Given the description of an element on the screen output the (x, y) to click on. 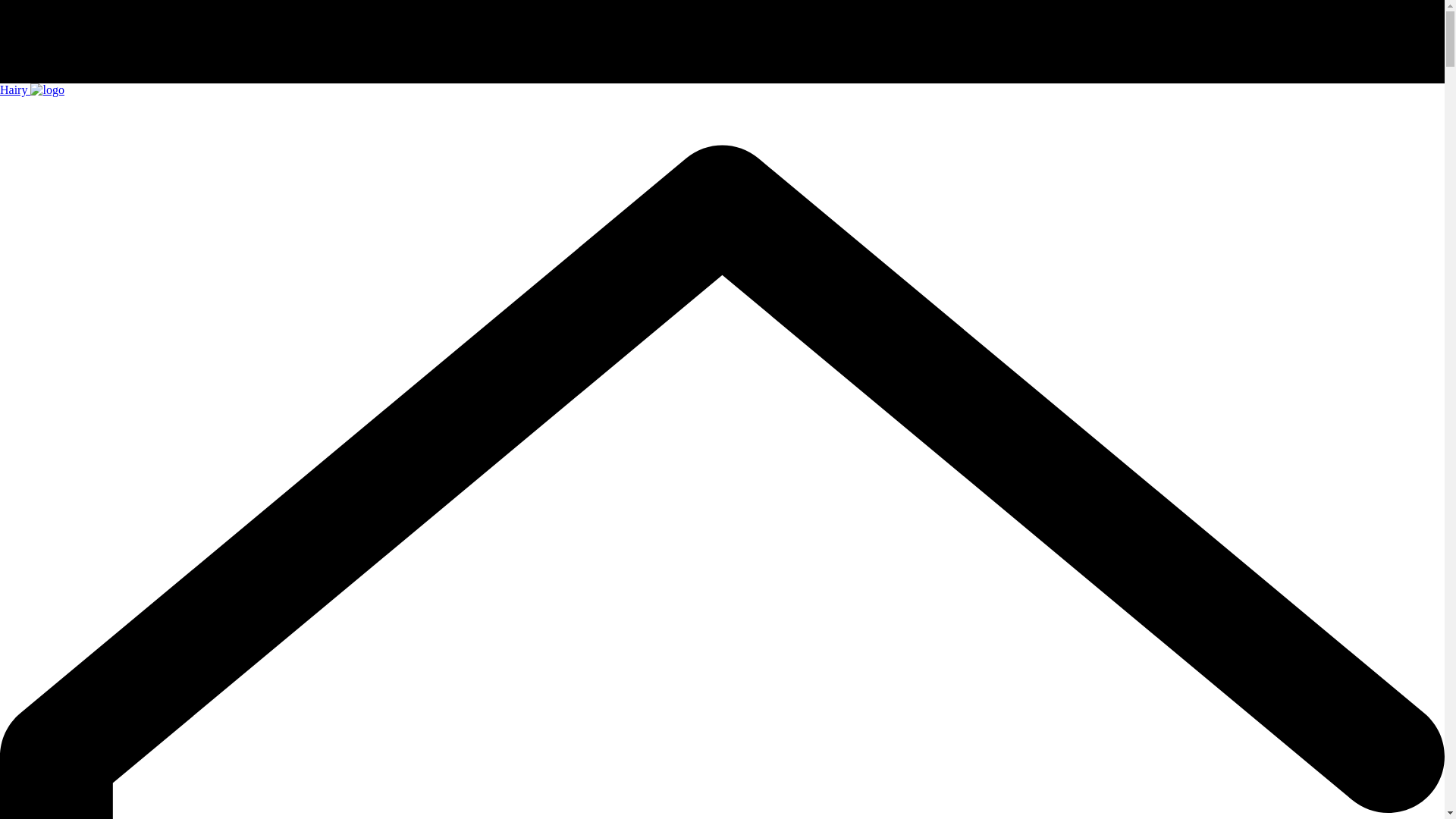
Hairy Element type: text (32, 89)
